Given the description of an element on the screen output the (x, y) to click on. 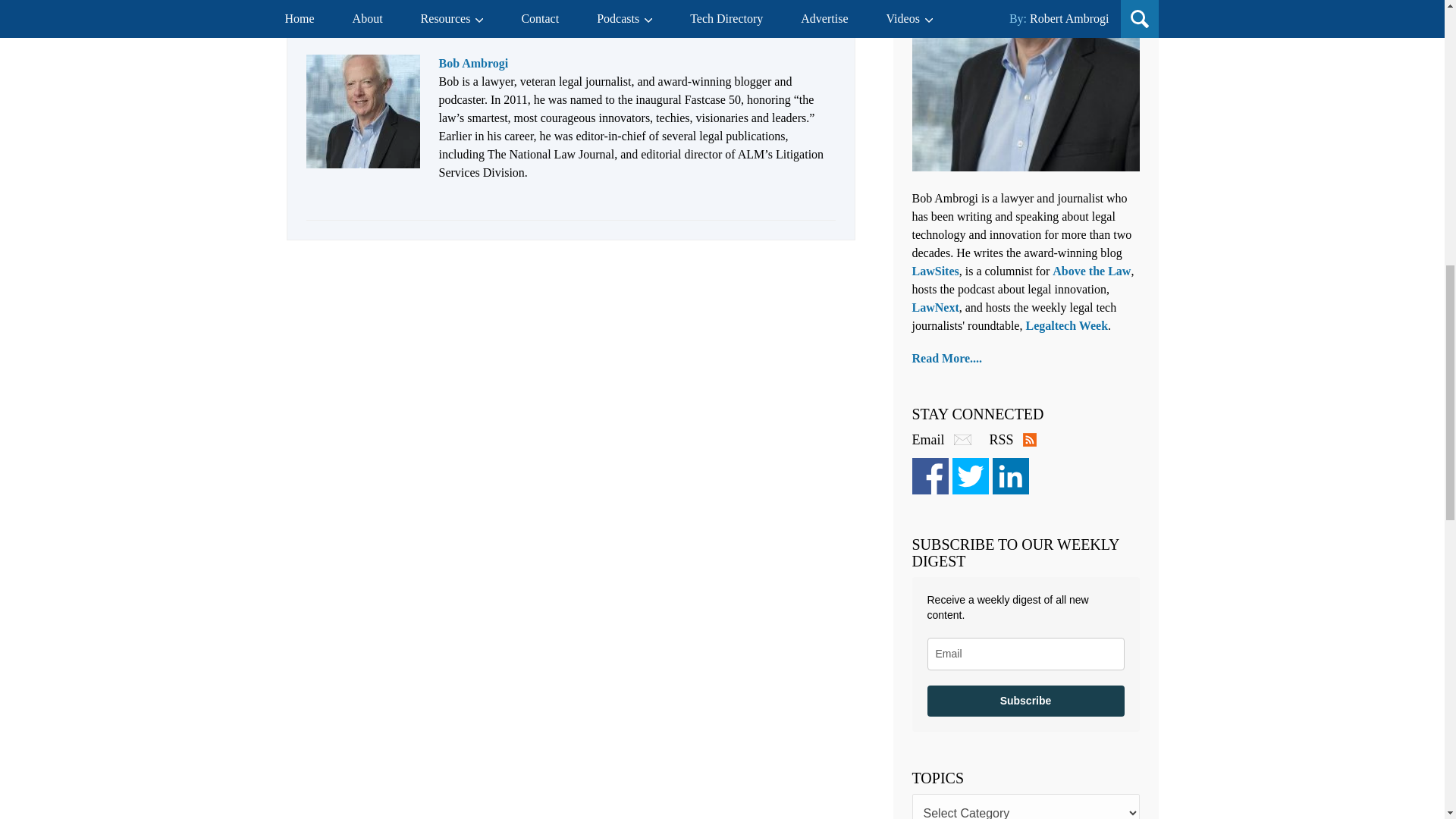
Above the Law (1091, 270)
Twitter (970, 475)
LawNext (934, 307)
Bob Ambrogi (473, 62)
LinkedIn (1009, 475)
LawSites (934, 270)
Facebook (929, 475)
